Given the description of an element on the screen output the (x, y) to click on. 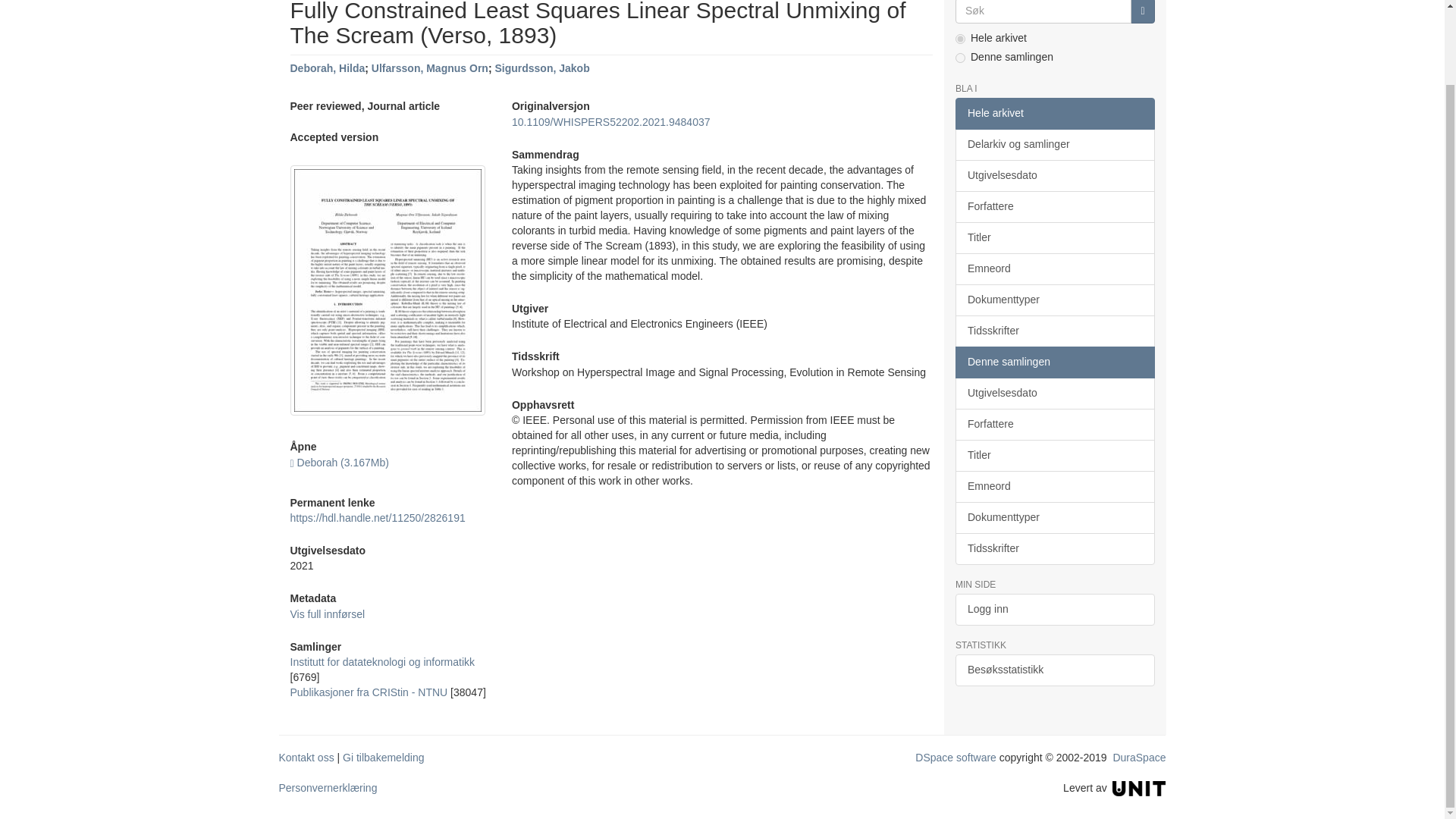
Deborah, Hilda (327, 68)
Utgivelsesdato (1054, 175)
Institutt for datateknologi og informatikk (381, 662)
Ulfarsson, Magnus Orn (429, 68)
Delarkiv og samlinger (1054, 144)
Hele arkivet (1054, 113)
Sigurdsson, Jakob (542, 68)
Unit (1139, 787)
Publikasjoner fra CRIStin - NTNU (367, 692)
Forfattere (1054, 206)
